Given the description of an element on the screen output the (x, y) to click on. 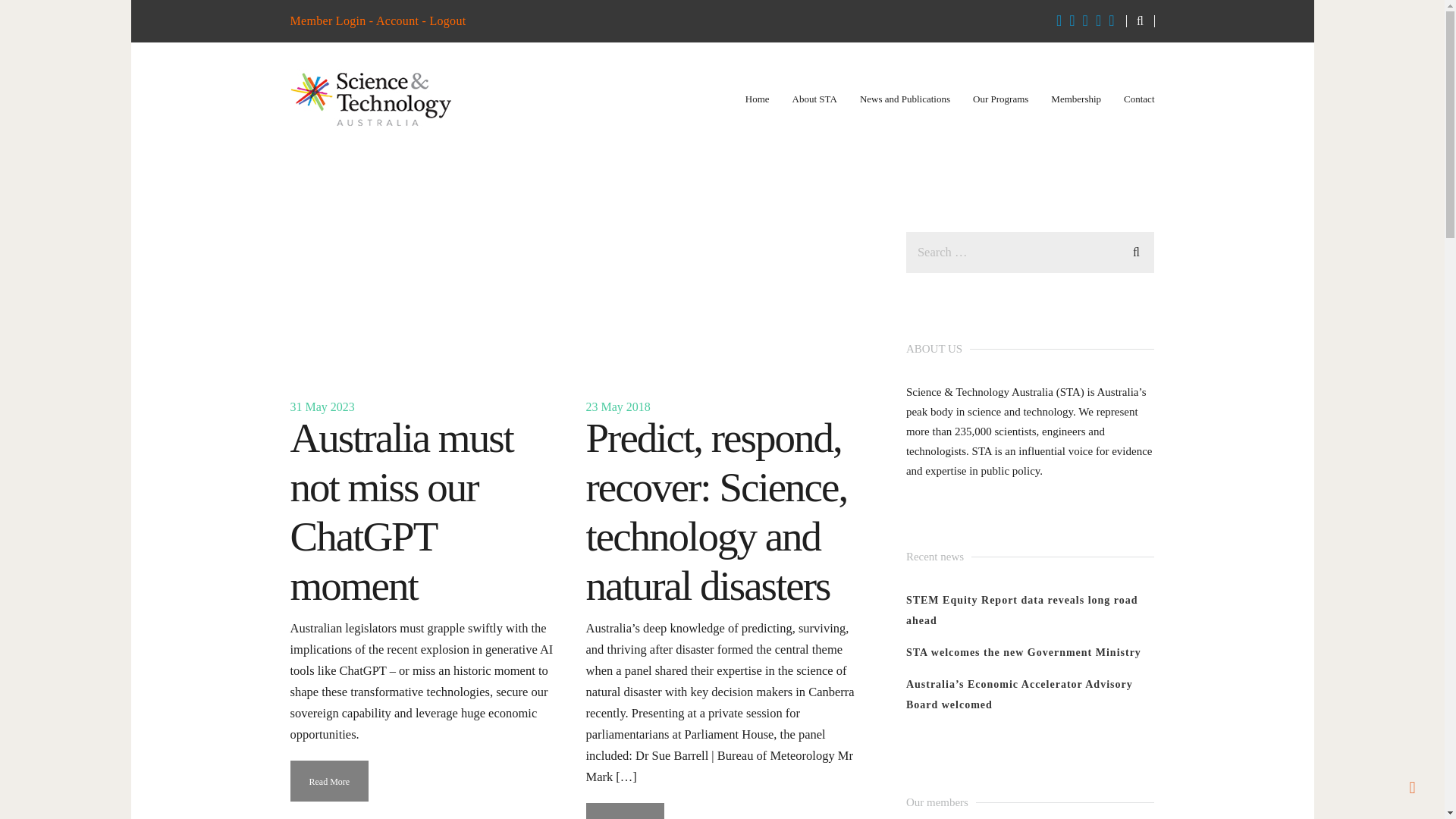
Our Programs (999, 98)
News and Publications (905, 98)
Logout (447, 20)
Home (757, 98)
Contact (1139, 98)
Membership (1075, 98)
Search (1136, 250)
About STA (814, 98)
Member Login (327, 20)
Account (397, 20)
Search (1136, 250)
